Given the description of an element on the screen output the (x, y) to click on. 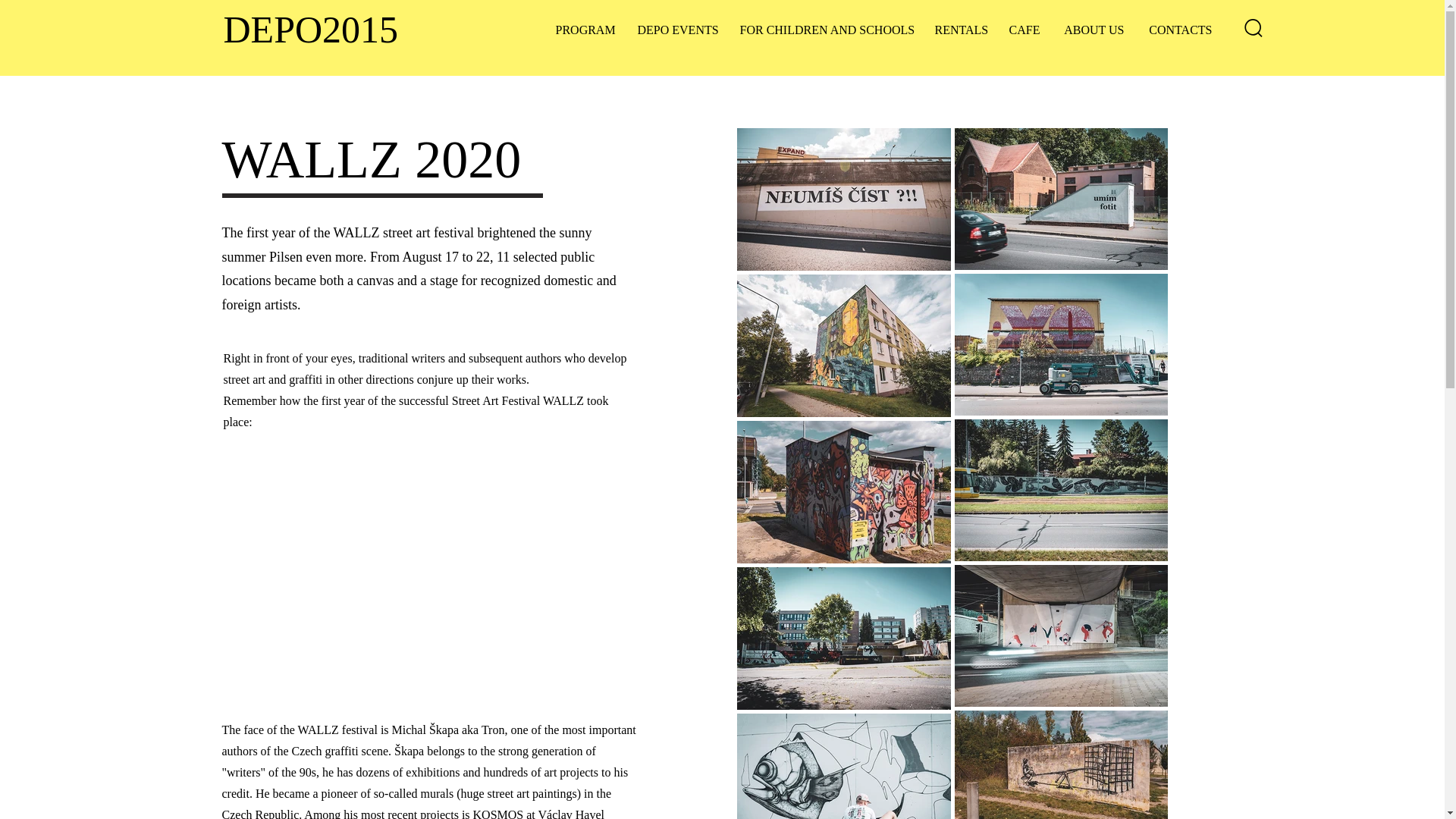
DEPO EVENTS (677, 29)
ABOUT US (1093, 29)
CAFE (1024, 29)
CONTACTS (1179, 29)
RENTALS (960, 29)
DEPO2015 (309, 29)
FOR CHILDREN AND SCHOOLS (825, 29)
PROGRAM (585, 29)
